Given the description of an element on the screen output the (x, y) to click on. 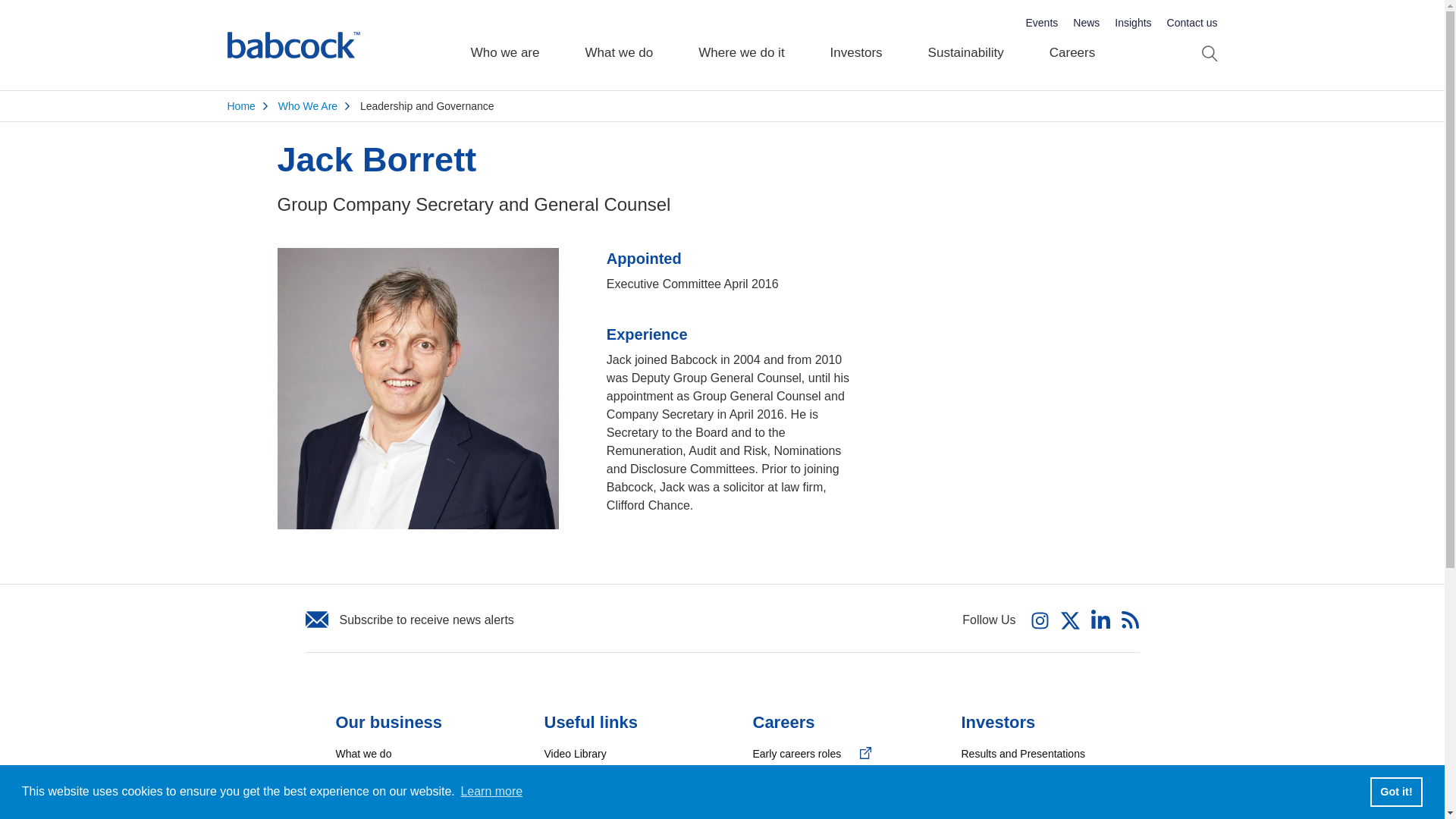
What we do (618, 45)
Back to Homepage (293, 44)
Follow Babcock International on LinkedIn (1099, 617)
Learn more (491, 791)
Follow Babcock International on X (1070, 619)
Where we do it (740, 45)
Investors (856, 45)
Who we are (505, 45)
Got it! (1396, 791)
